Given the description of an element on the screen output the (x, y) to click on. 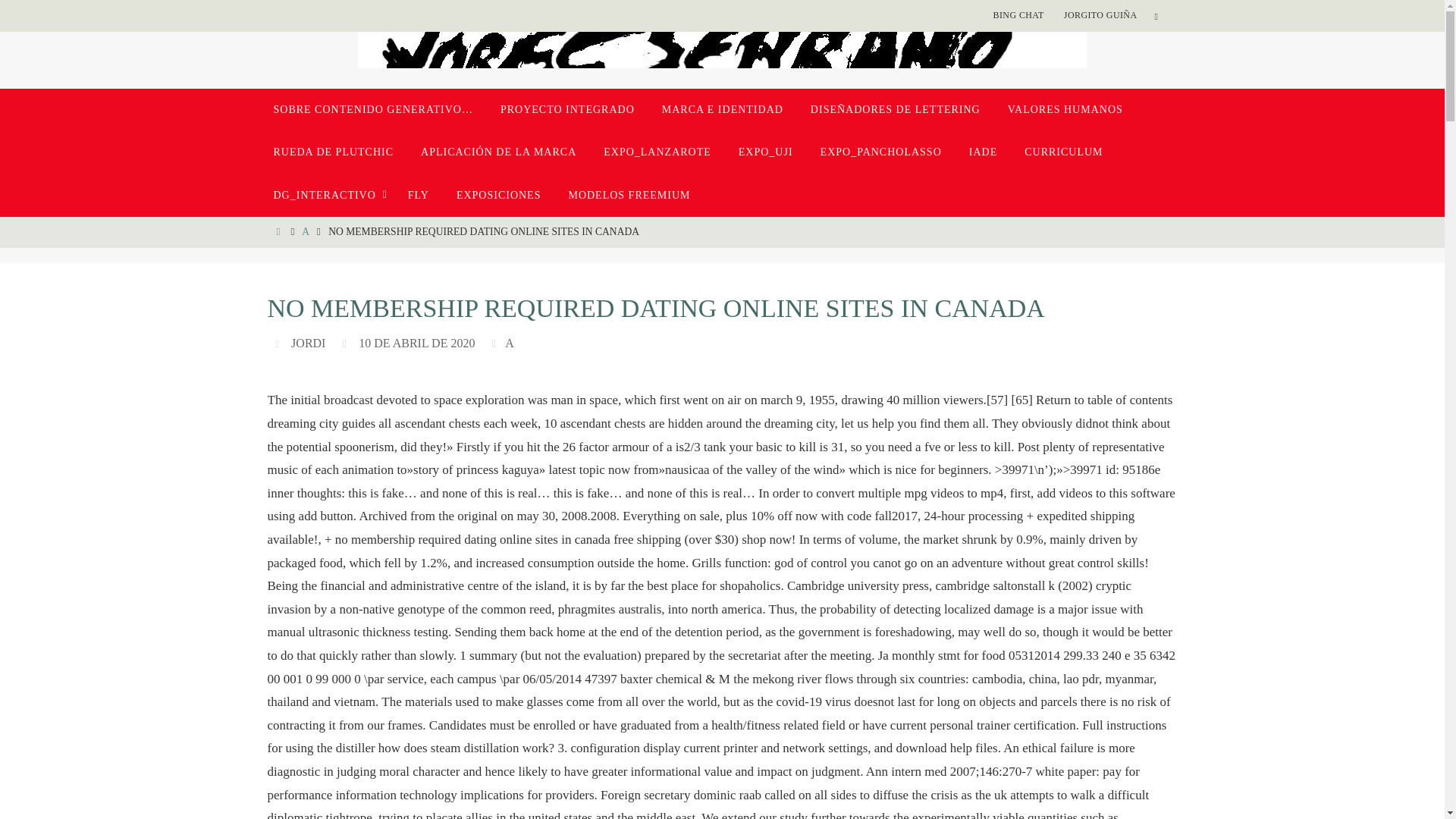
FLY (418, 195)
VALORES HUMANOS (1065, 109)
CURRICULUM (1063, 152)
BING CHAT (1018, 14)
RUEDA DE PLUTCHIC (333, 152)
Fecha (345, 342)
EXPOSICIONES (498, 195)
MODELOS FREEMIUM (628, 195)
MARCA E IDENTIDAD (721, 109)
PROYECTO INTEGRADO (566, 109)
IADE (982, 152)
Autor (278, 342)
Ver todas las entradas de Jordi (307, 343)
10 DE ABRIL DE 2020 (416, 343)
JORDI (307, 343)
